Given the description of an element on the screen output the (x, y) to click on. 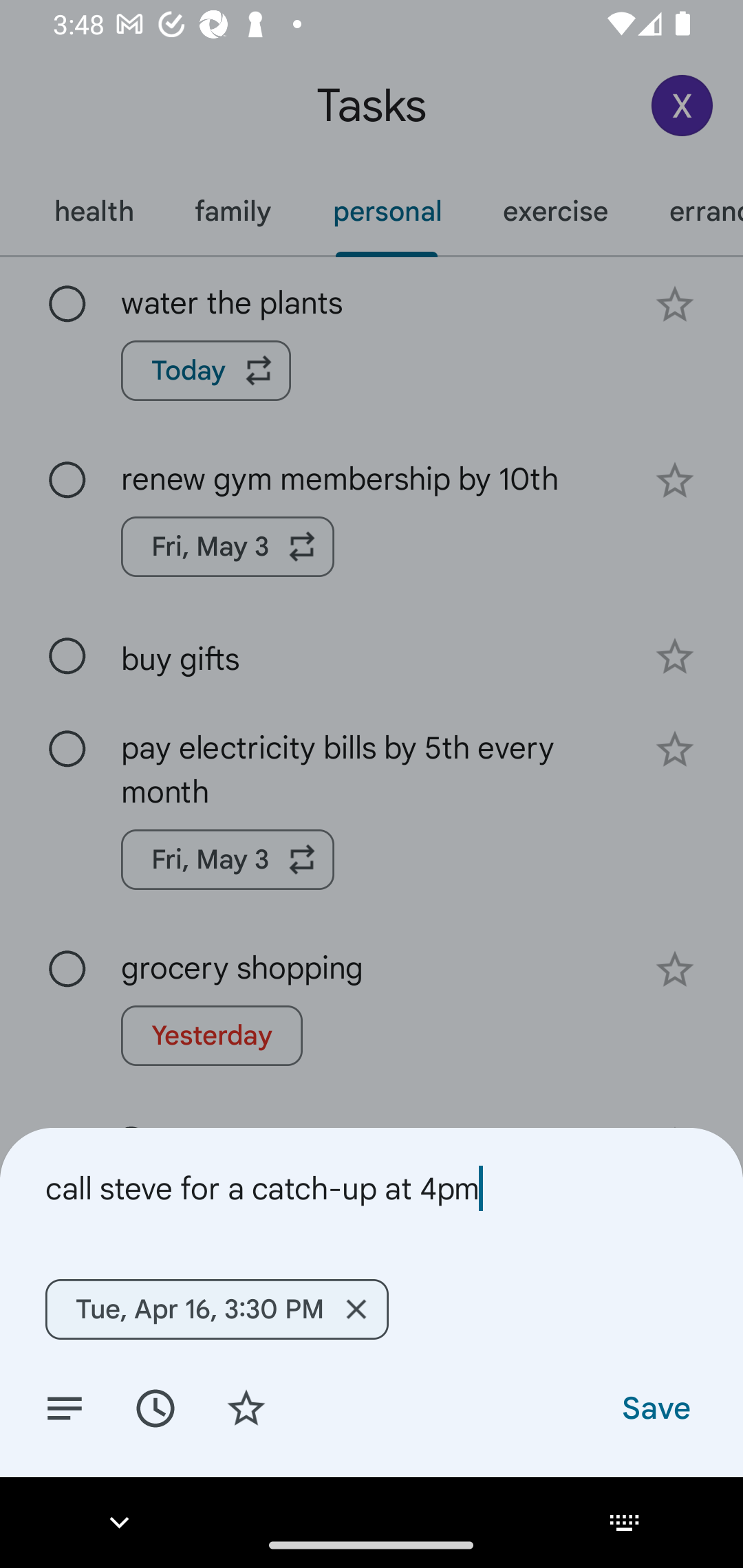
call steve for a catch-up at 4pm (371, 1188)
Tue, Apr 16, 3:30 PM Remove Tue, Apr 16, 3:30 PM (216, 1308)
Save (655, 1407)
Add details (64, 1407)
Set date/time (154, 1407)
Add star (245, 1407)
